Given the description of an element on the screen output the (x, y) to click on. 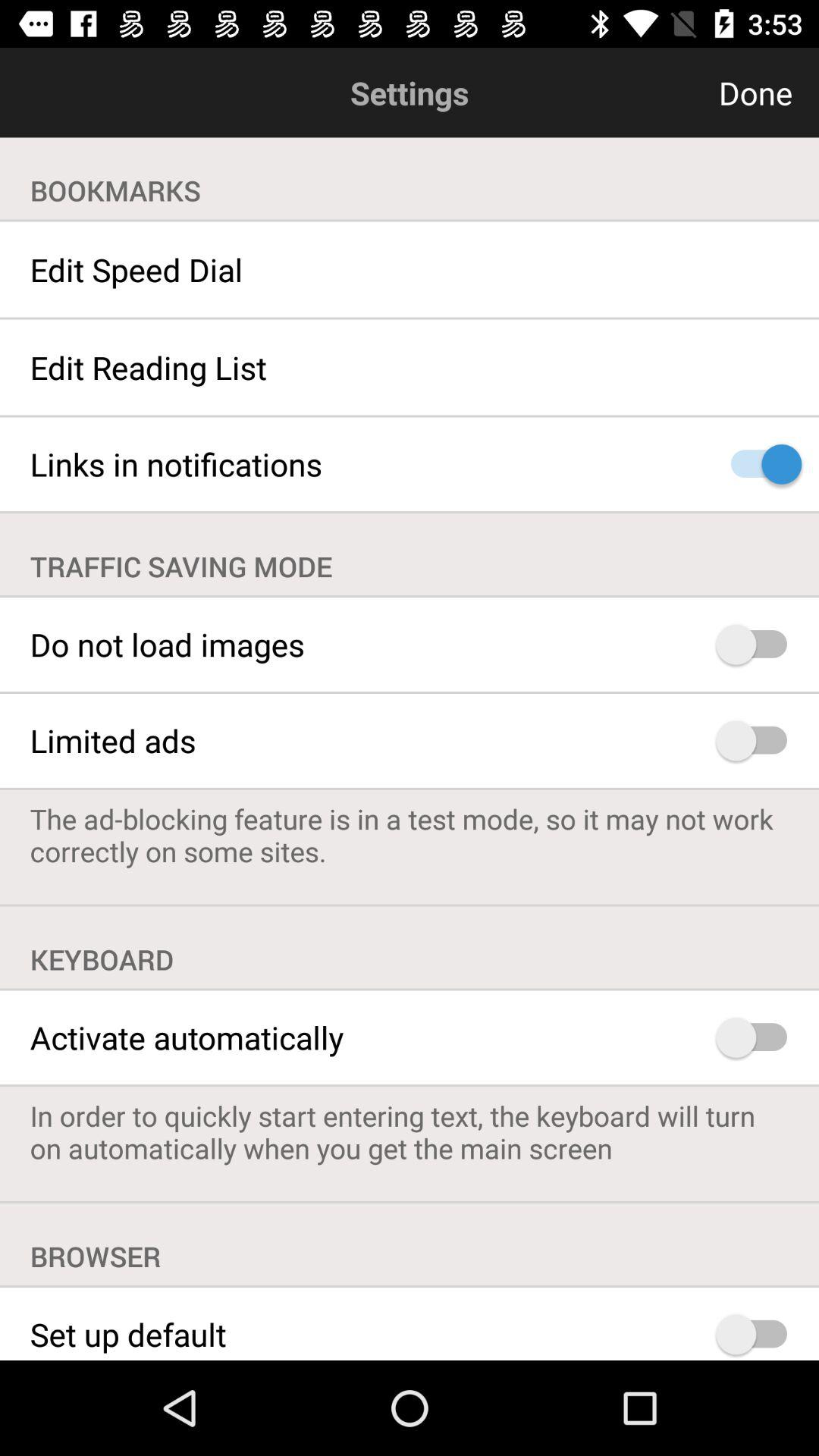
turn on the button above edit reading list icon (409, 269)
